Given the description of an element on the screen output the (x, y) to click on. 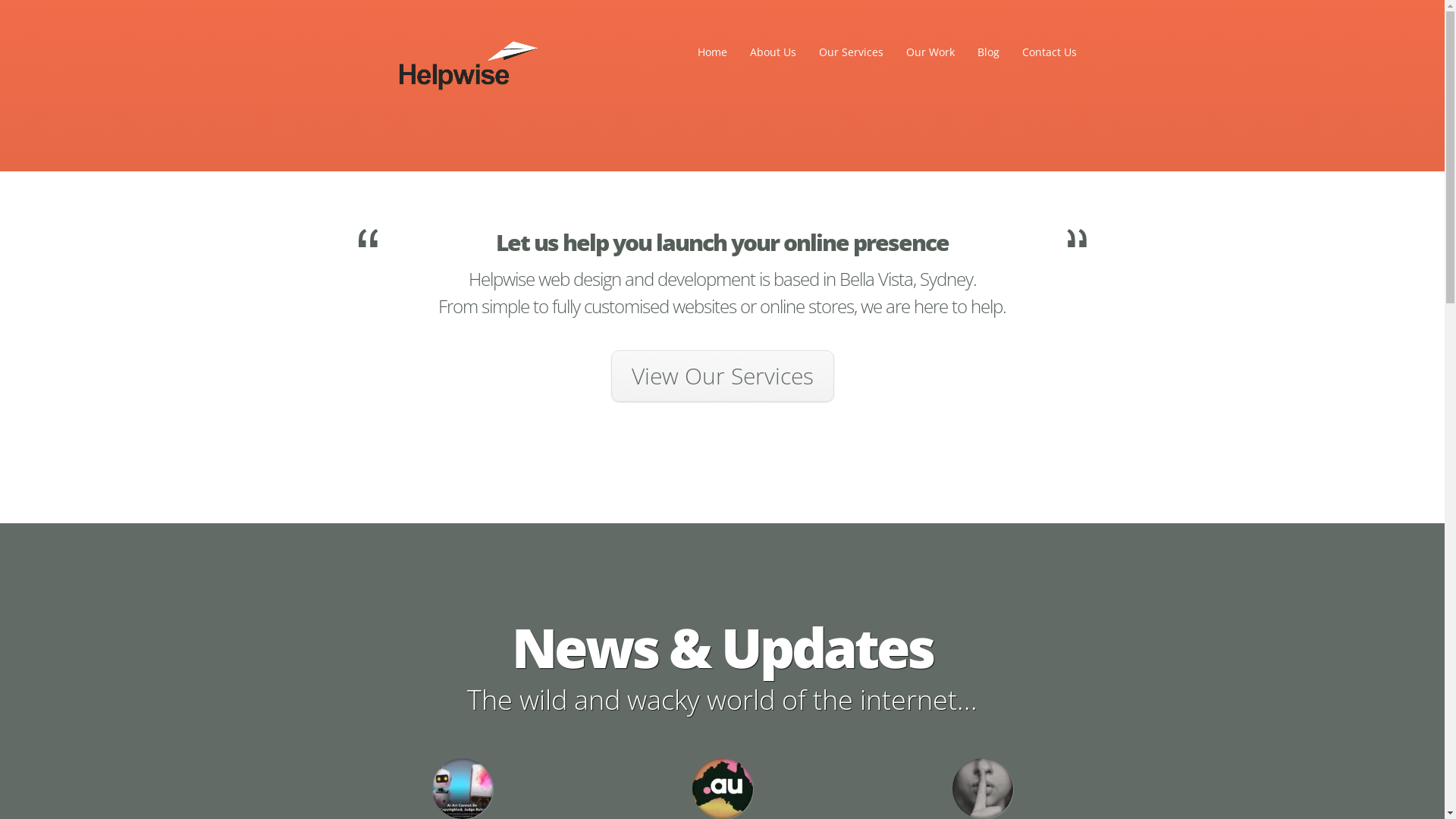
Home Element type: text (711, 52)
About Us Element type: text (773, 52)
Our Work Element type: text (930, 52)
View Our Services Element type: text (722, 375)
Our Services Element type: text (850, 52)
Blog Element type: text (988, 52)
Contact Us Element type: text (1048, 52)
